Given the description of an element on the screen output the (x, y) to click on. 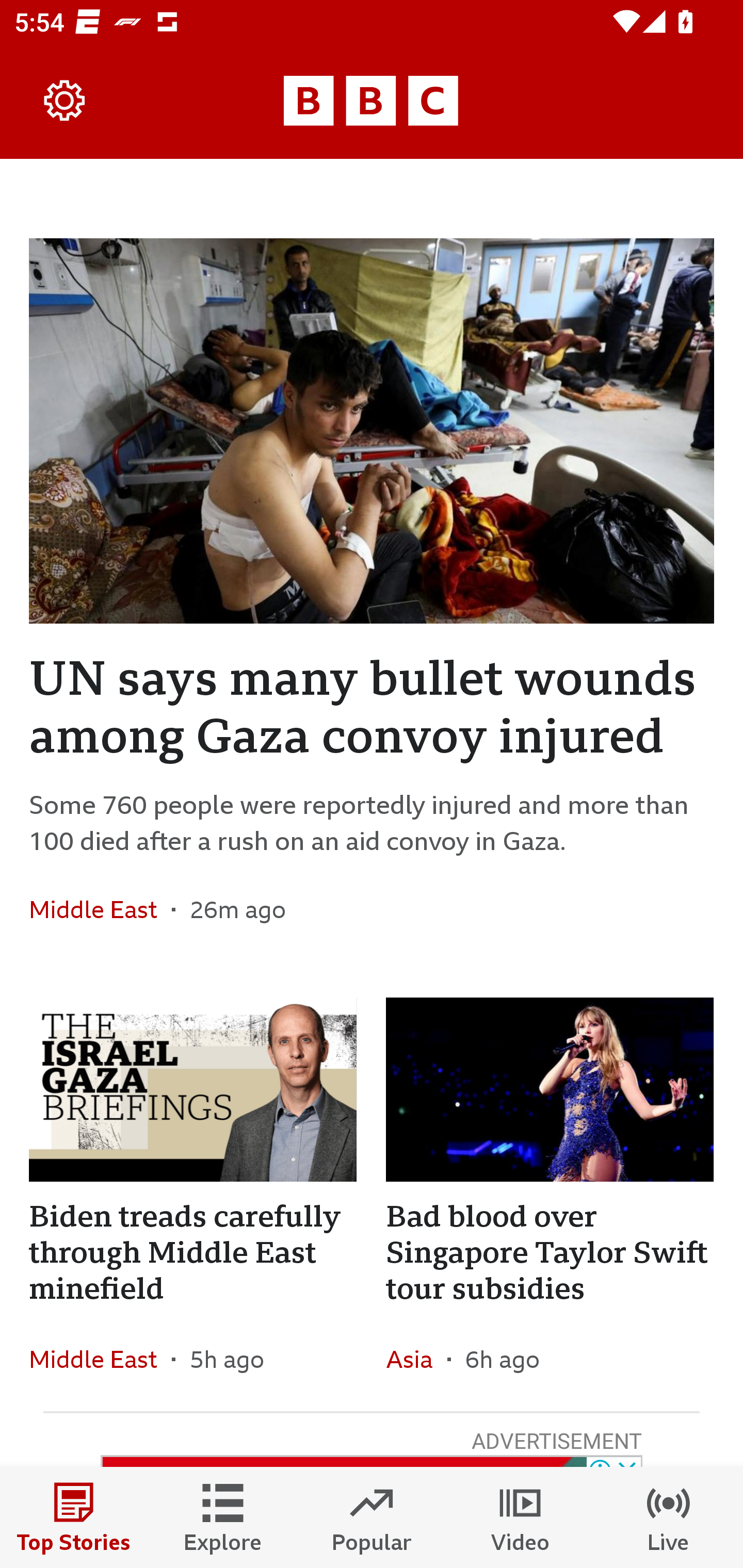
Settings (64, 100)
Middle East In the section Middle East (99, 909)
Middle East In the section Middle East (99, 1359)
Asia In the section Asia (416, 1359)
Explore (222, 1517)
Popular (371, 1517)
Video (519, 1517)
Live (668, 1517)
